Given the description of an element on the screen output the (x, y) to click on. 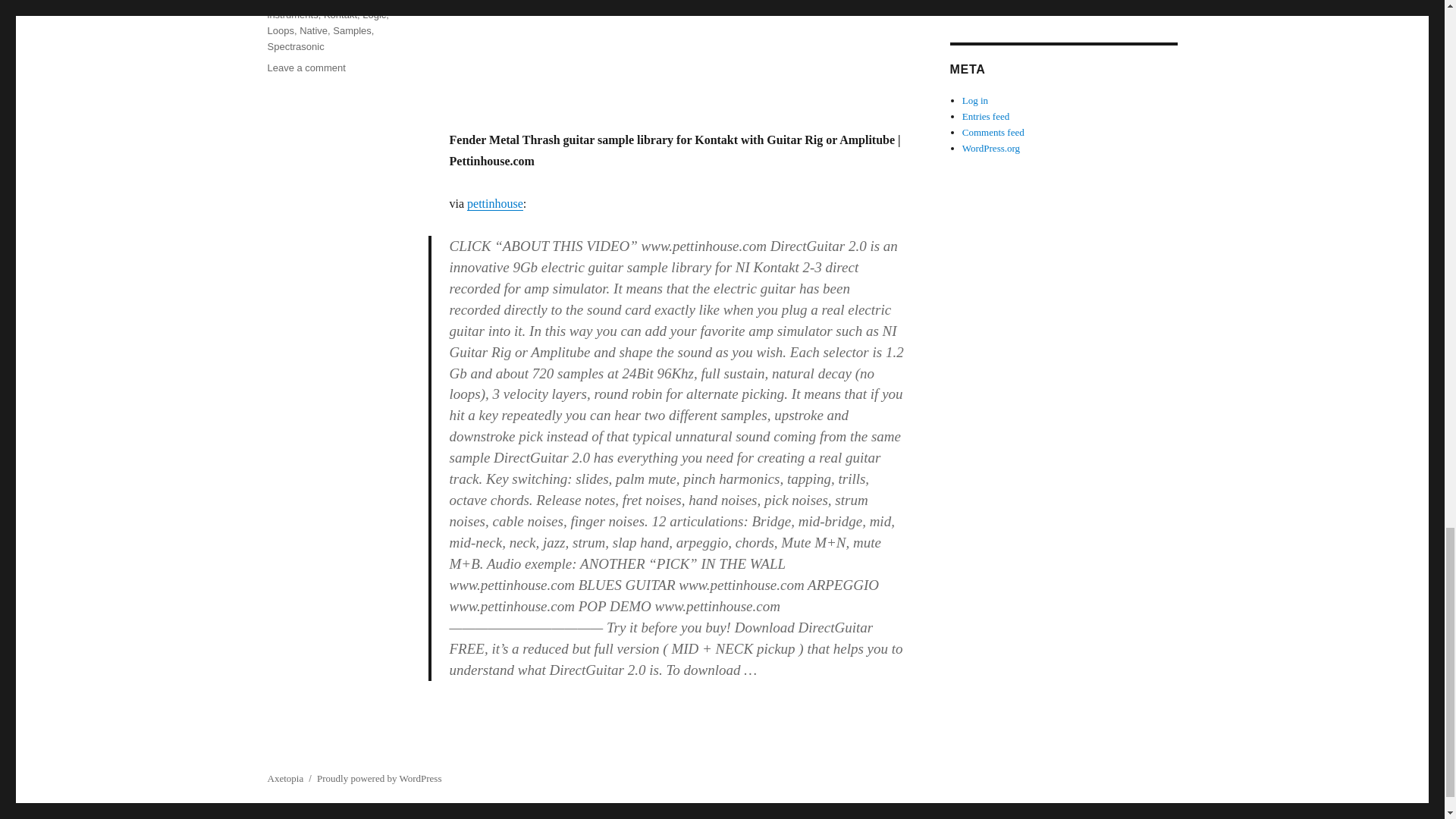
Loops (280, 30)
Logic (373, 14)
Spectrasonic (294, 46)
instruments (291, 14)
Native (313, 30)
Kontakt (339, 14)
pettinhouse (494, 203)
Garageband (293, 2)
Samples (352, 30)
Guitar (340, 2)
